Given the description of an element on the screen output the (x, y) to click on. 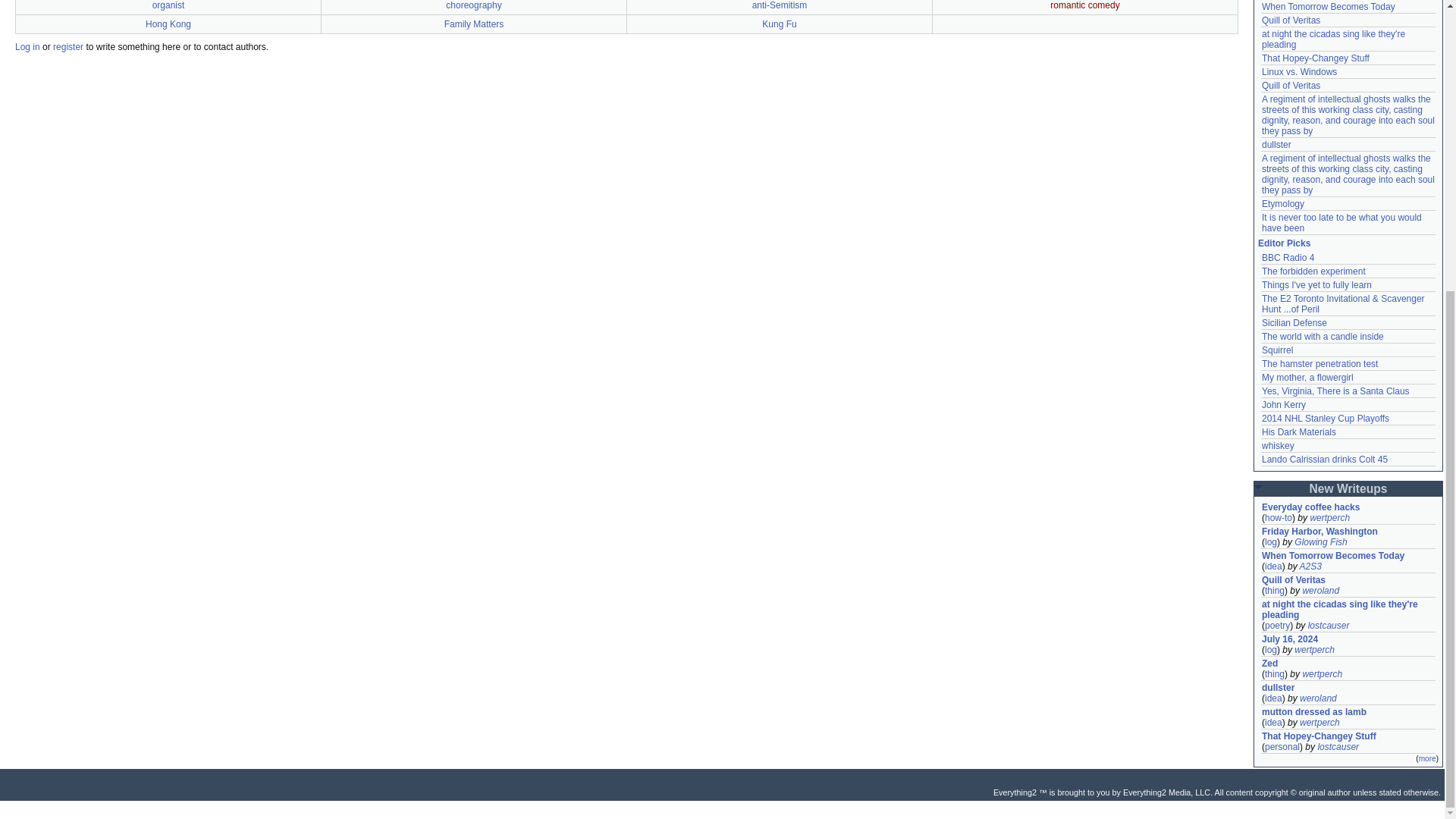
choreography (472, 5)
organist (168, 5)
anti-Semitism (780, 5)
romantic comedy (1084, 5)
Hong Kong (167, 23)
